Given the description of an element on the screen output the (x, y) to click on. 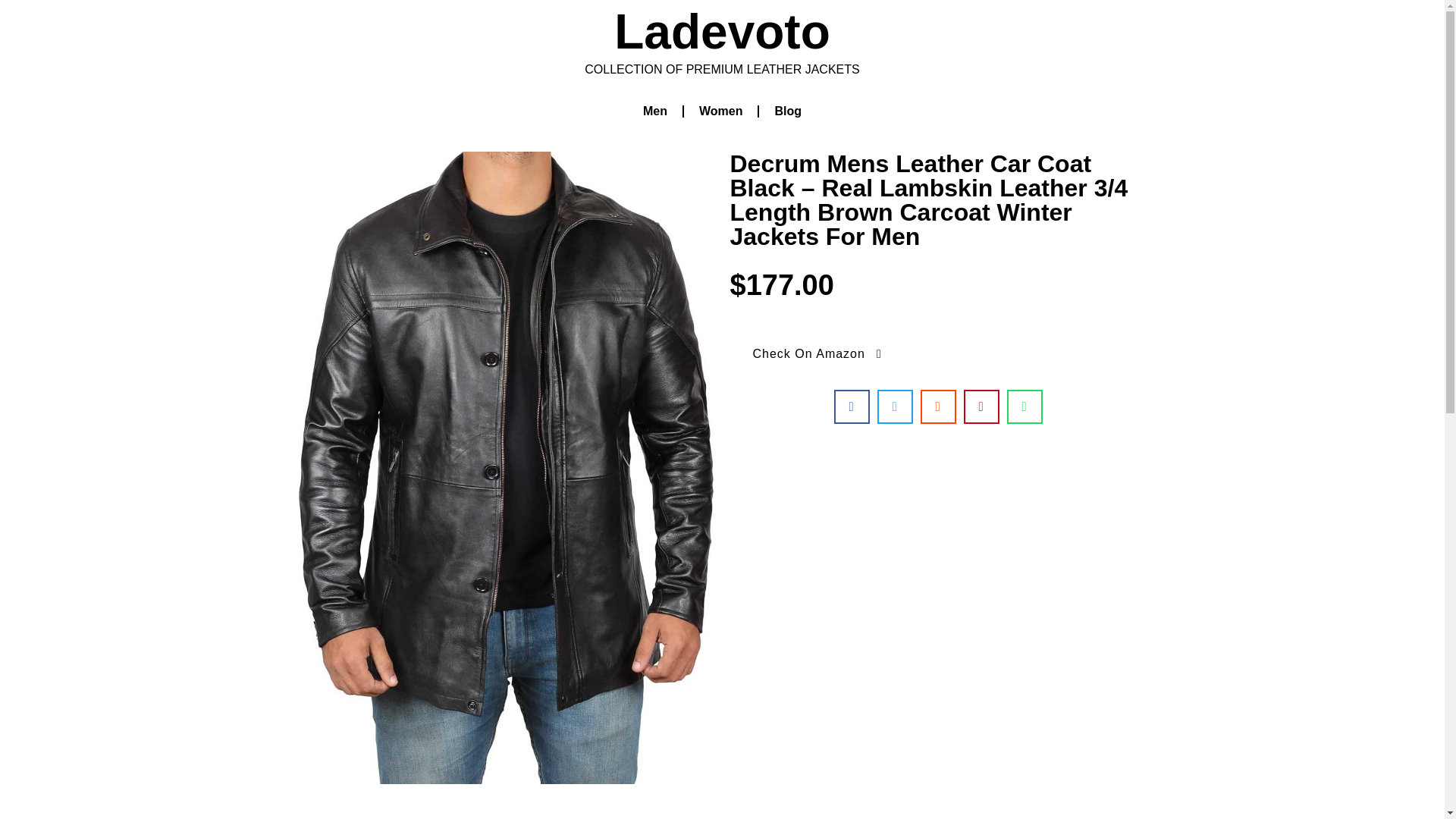
Women (720, 111)
Ladevoto (721, 31)
Men (654, 111)
Check On Amazon (818, 353)
Blog (787, 111)
